Given the description of an element on the screen output the (x, y) to click on. 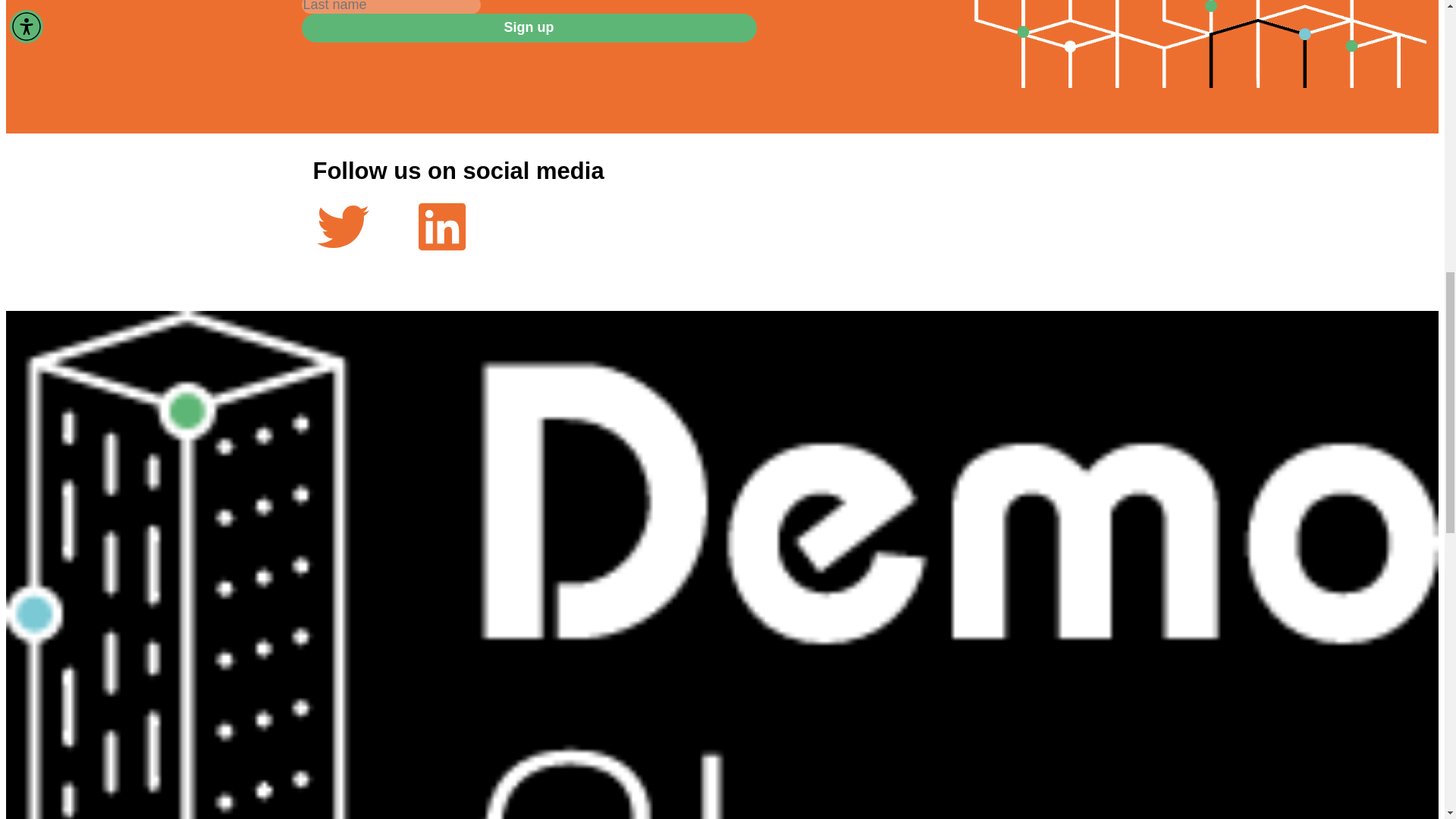
Sign up (529, 27)
Sign up (529, 27)
